Given the description of an element on the screen output the (x, y) to click on. 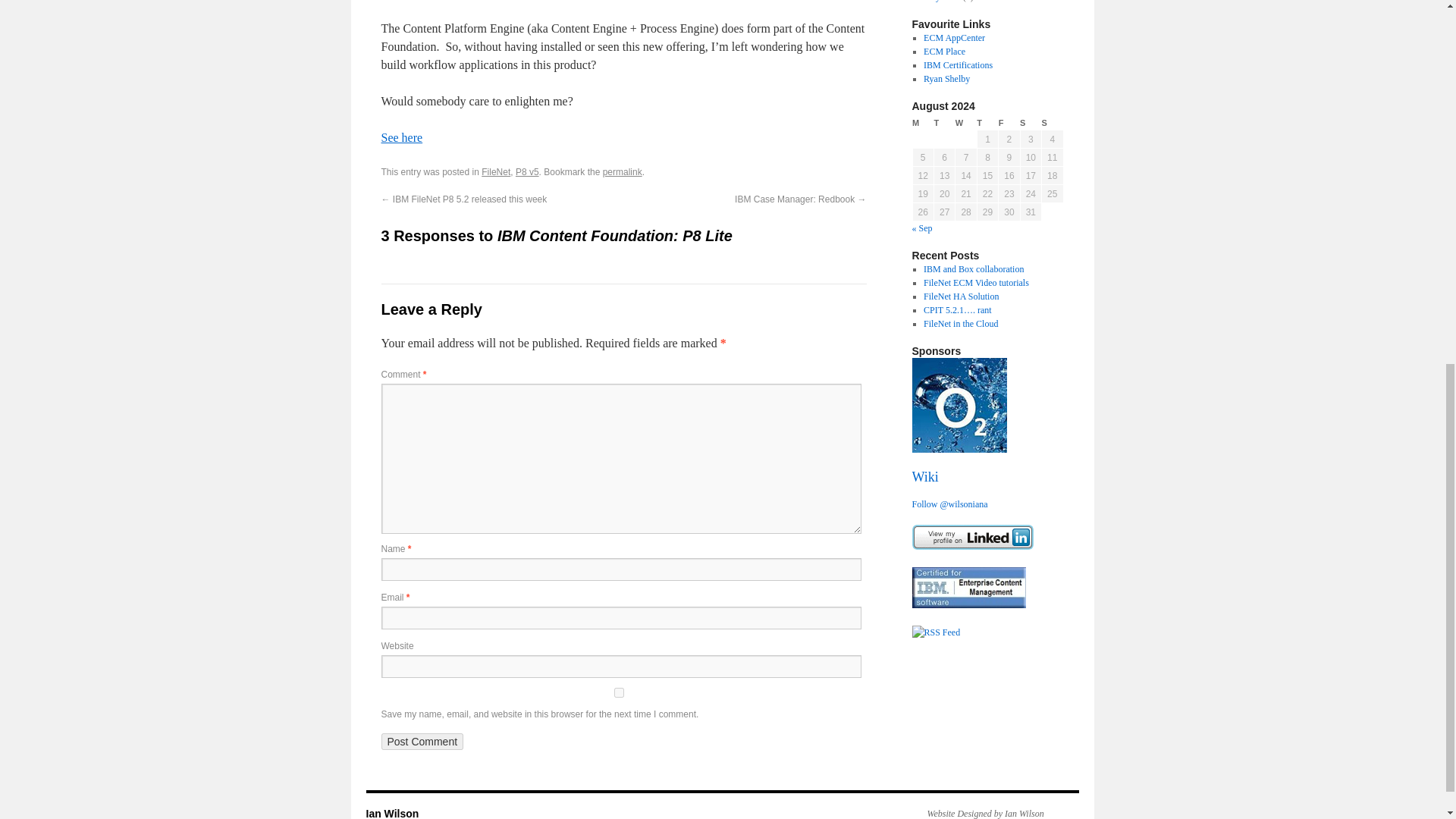
permalink (622, 172)
Wednesday (965, 123)
yes (618, 692)
Syndicate this site using RSS (935, 632)
Permalink to IBM Content Foundation: P8 Lite (622, 172)
Saturday (1030, 123)
RSS Feed (935, 632)
Tuesday (944, 123)
Friday (1009, 123)
Thursday (986, 123)
Monday (922, 123)
See here (401, 137)
FileNet (496, 172)
Post Comment (421, 741)
P8 v5 (526, 172)
